Given the description of an element on the screen output the (x, y) to click on. 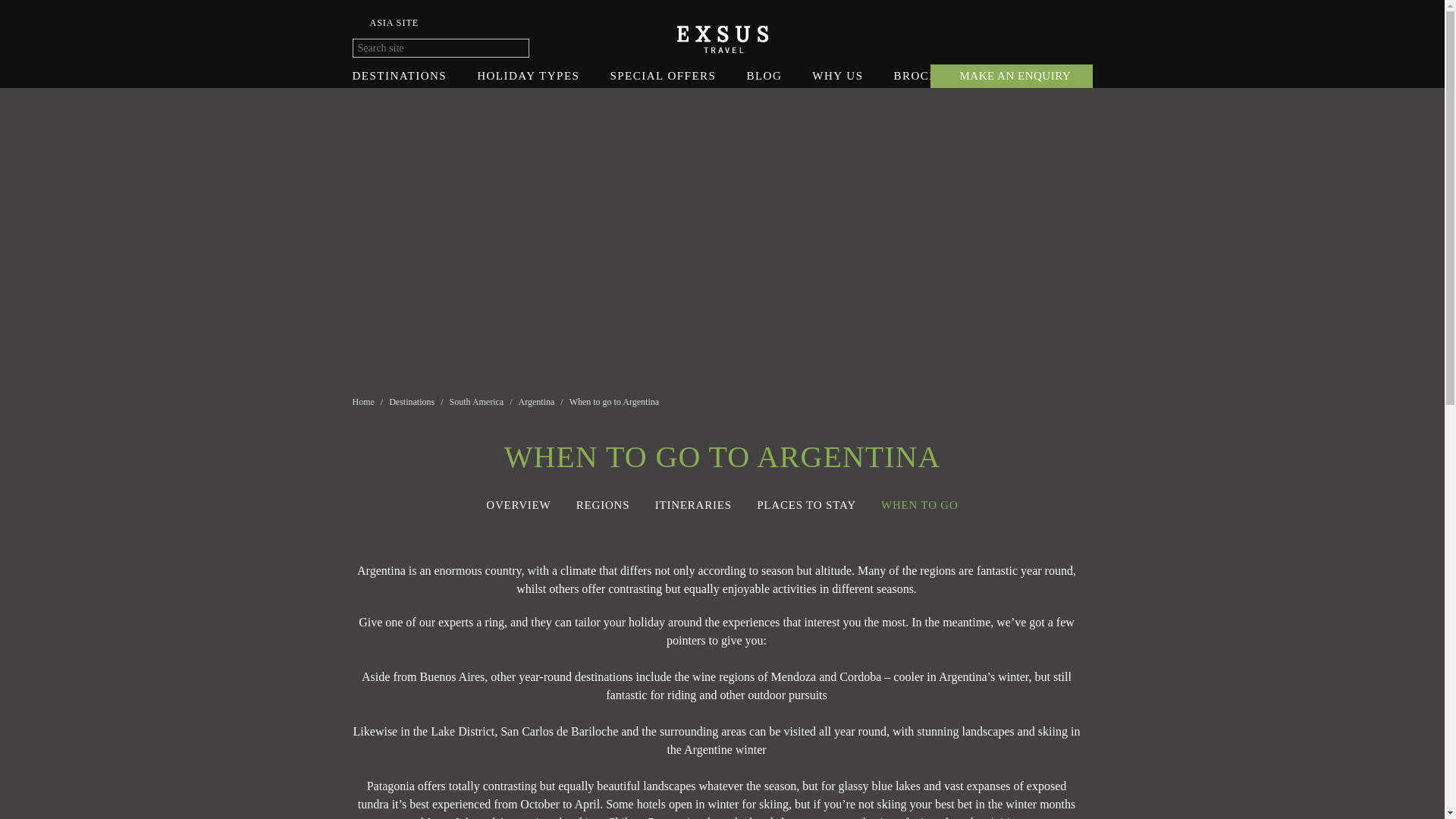
South America (477, 401)
WHEN TO GO (919, 504)
OVERVIEW (518, 504)
Argentina (537, 401)
Destinations (412, 401)
REGIONS (603, 504)
ITINERARIES (693, 504)
Home (363, 401)
PLACES TO STAY (806, 504)
